Given the description of an element on the screen output the (x, y) to click on. 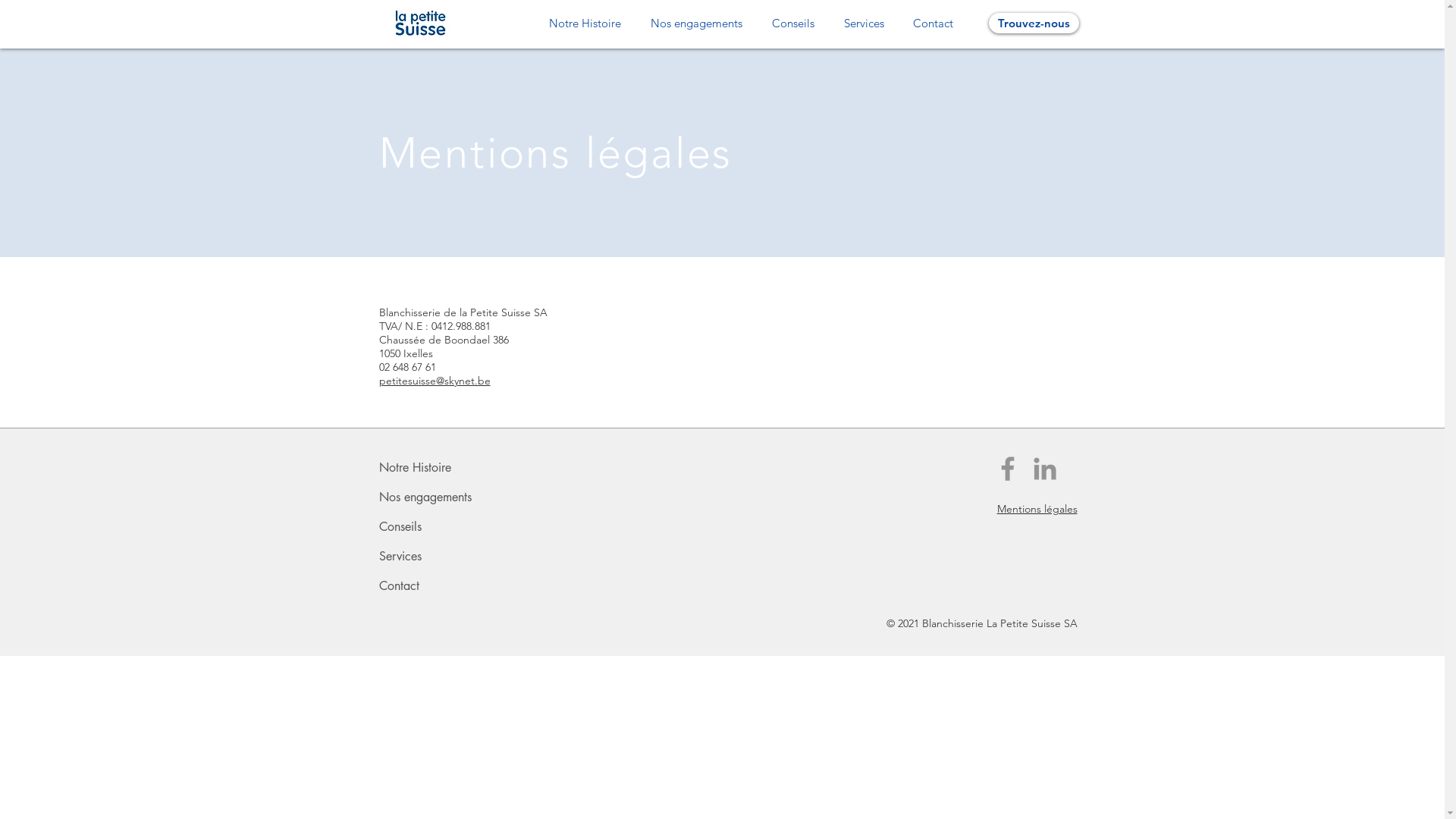
petitesuisse@skynet.be Element type: text (434, 380)
Contact Element type: text (438, 585)
Services Element type: text (438, 556)
Conseils Element type: text (792, 22)
Services Element type: text (863, 22)
Nos engagements Element type: text (695, 22)
Notre Histoire Element type: text (438, 467)
Trouvez-nous Element type: text (1033, 22)
Conseils Element type: text (438, 526)
Nos engagements Element type: text (438, 496)
Contact Element type: text (931, 22)
Notre Histoire Element type: text (584, 22)
